Given the description of an element on the screen output the (x, y) to click on. 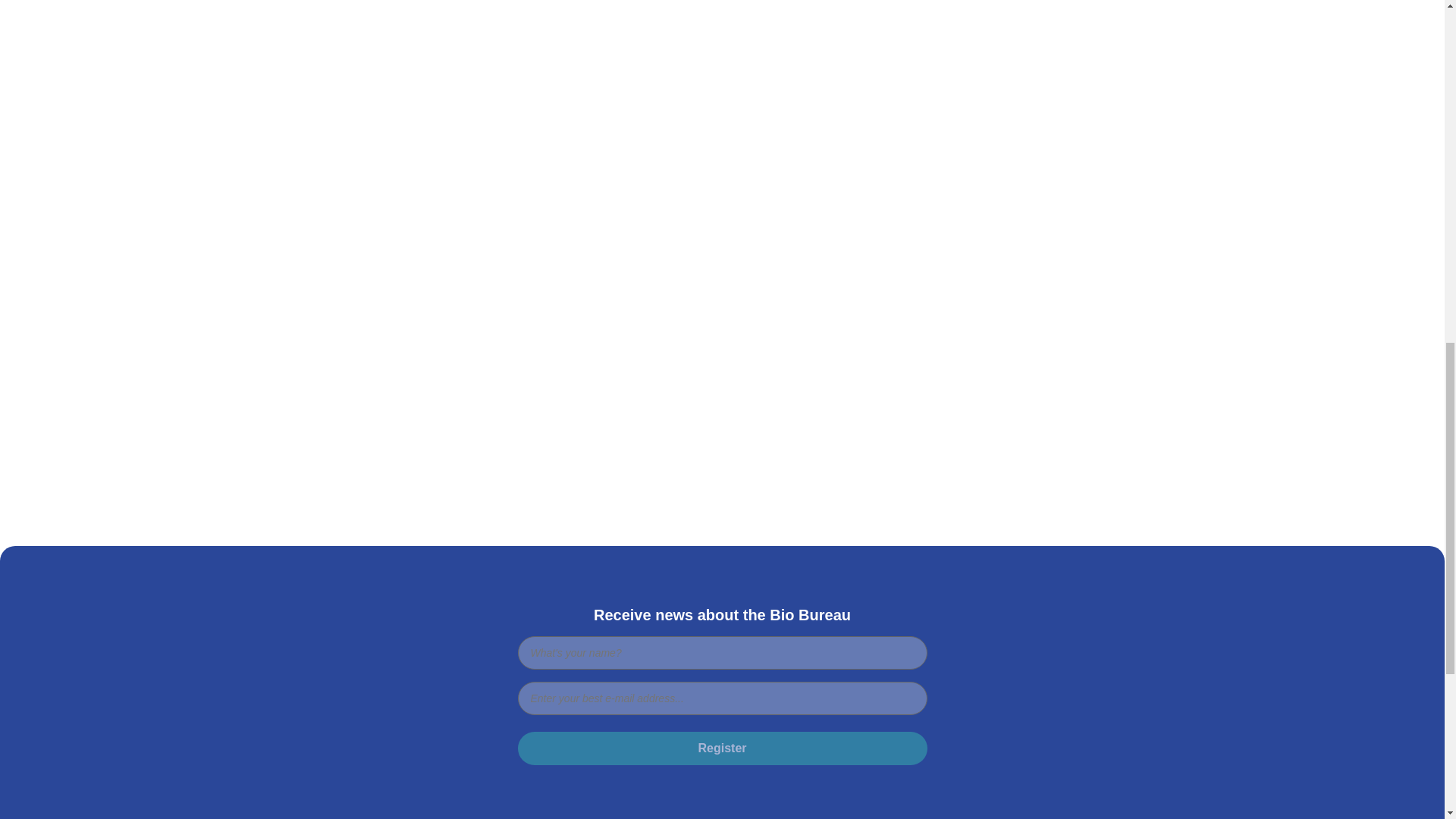
Register (721, 748)
Register (721, 748)
